Given the description of an element on the screen output the (x, y) to click on. 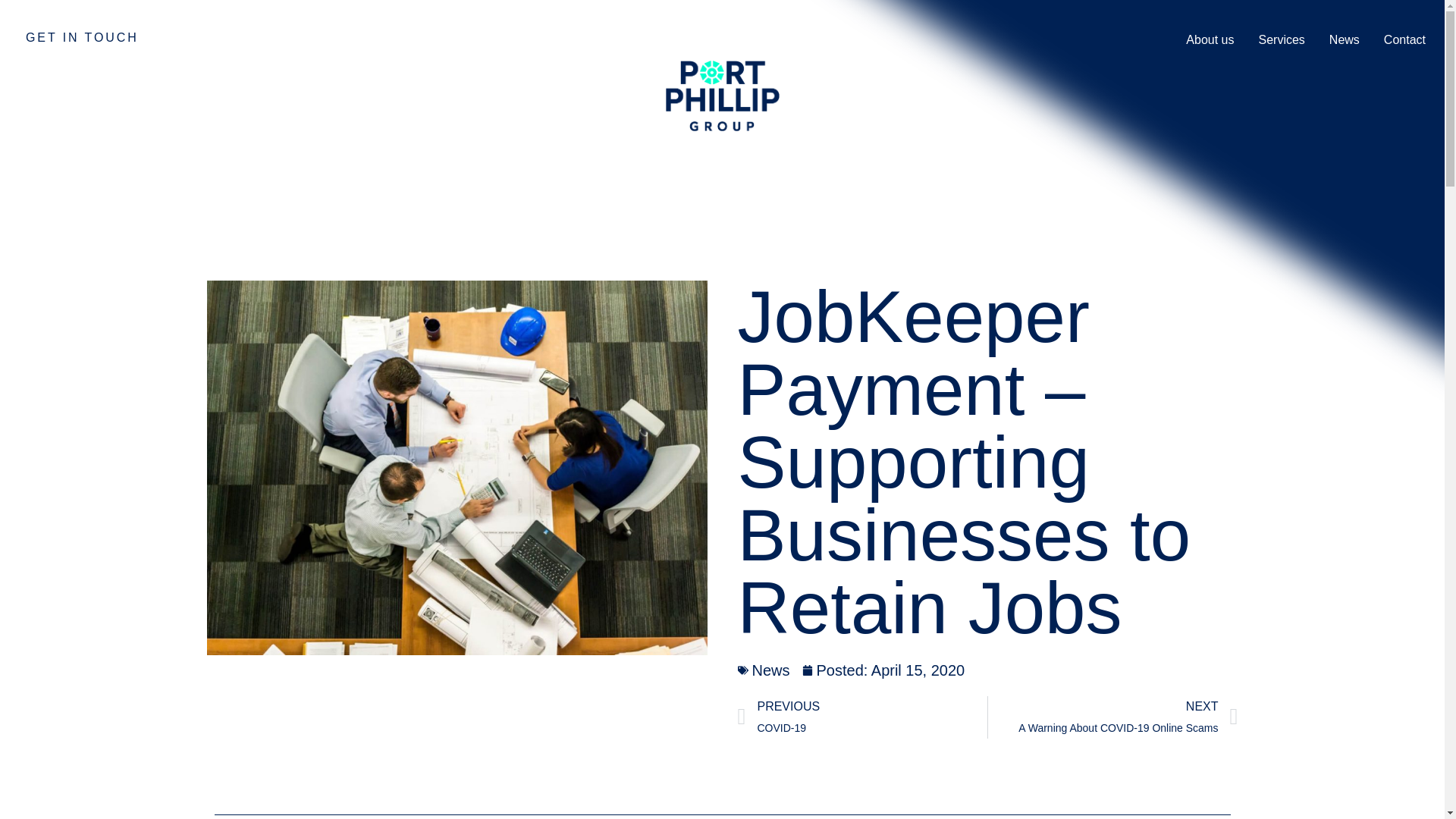
About us (1209, 39)
Services (1280, 39)
Contact (1404, 39)
GET IN TOUCH (82, 37)
